Given the description of an element on the screen output the (x, y) to click on. 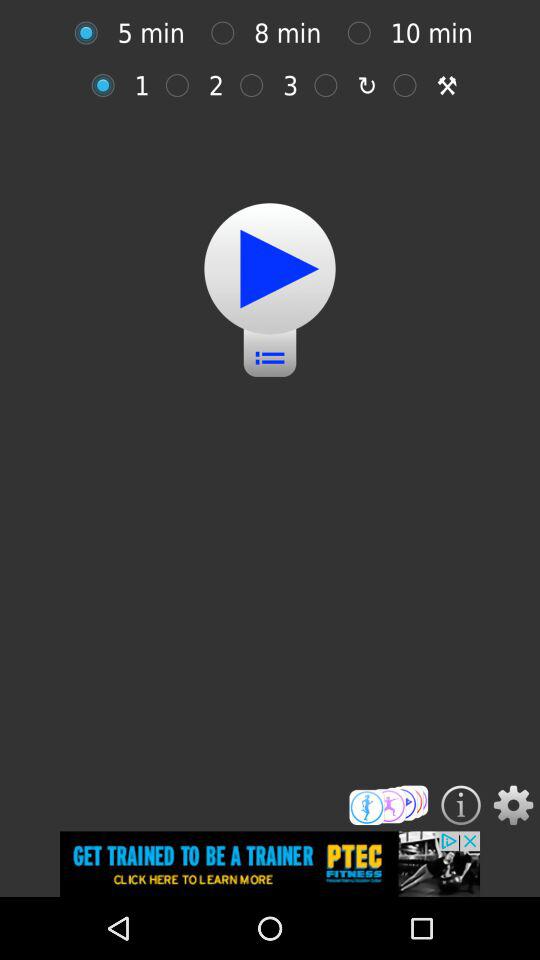
open advertisement (270, 864)
